Given the description of an element on the screen output the (x, y) to click on. 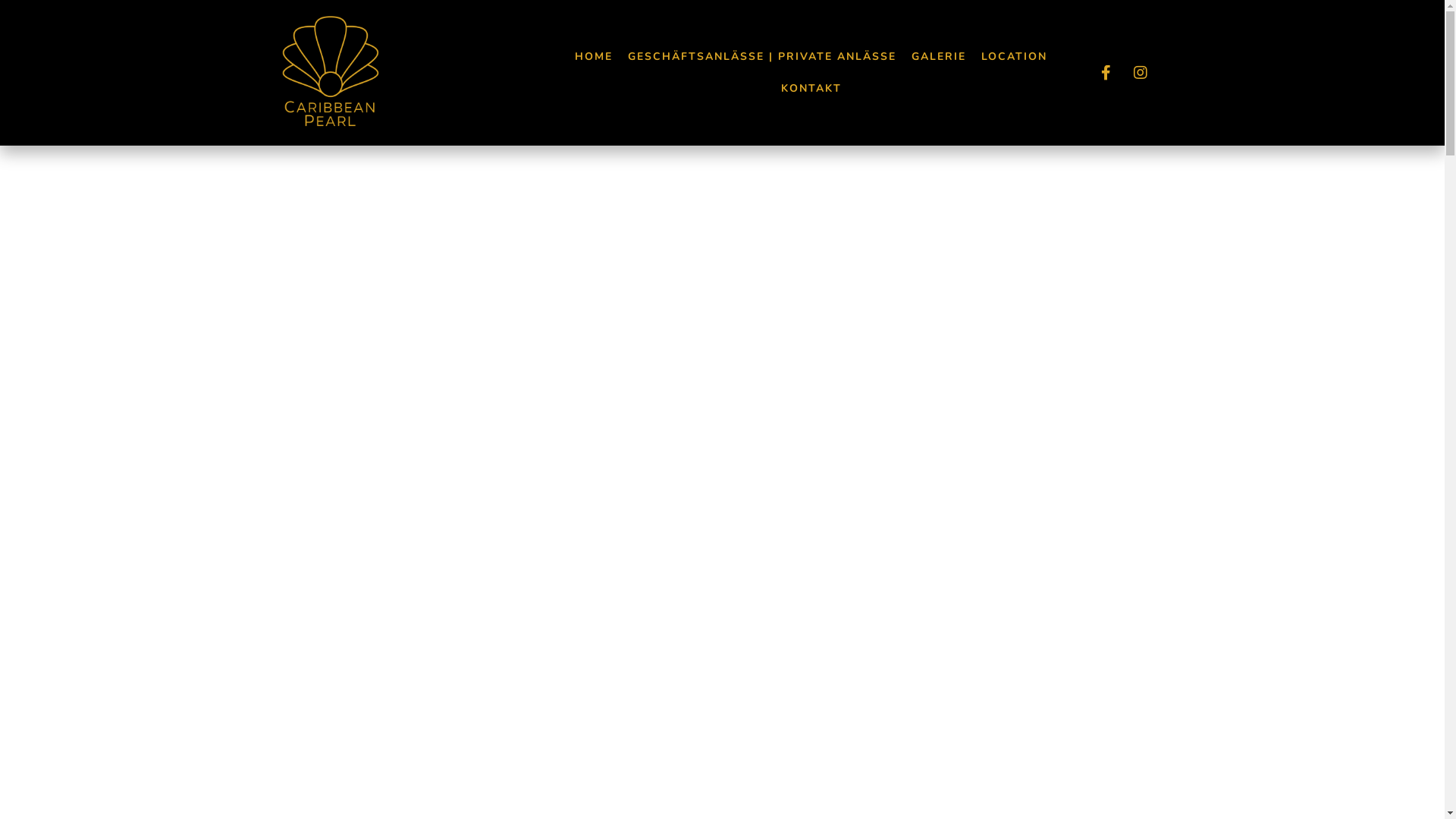
HOME Element type: text (593, 56)
KONTAKT Element type: text (811, 88)
LOCATION Element type: text (1013, 56)
GALERIE Element type: text (938, 56)
